Given the description of an element on the screen output the (x, y) to click on. 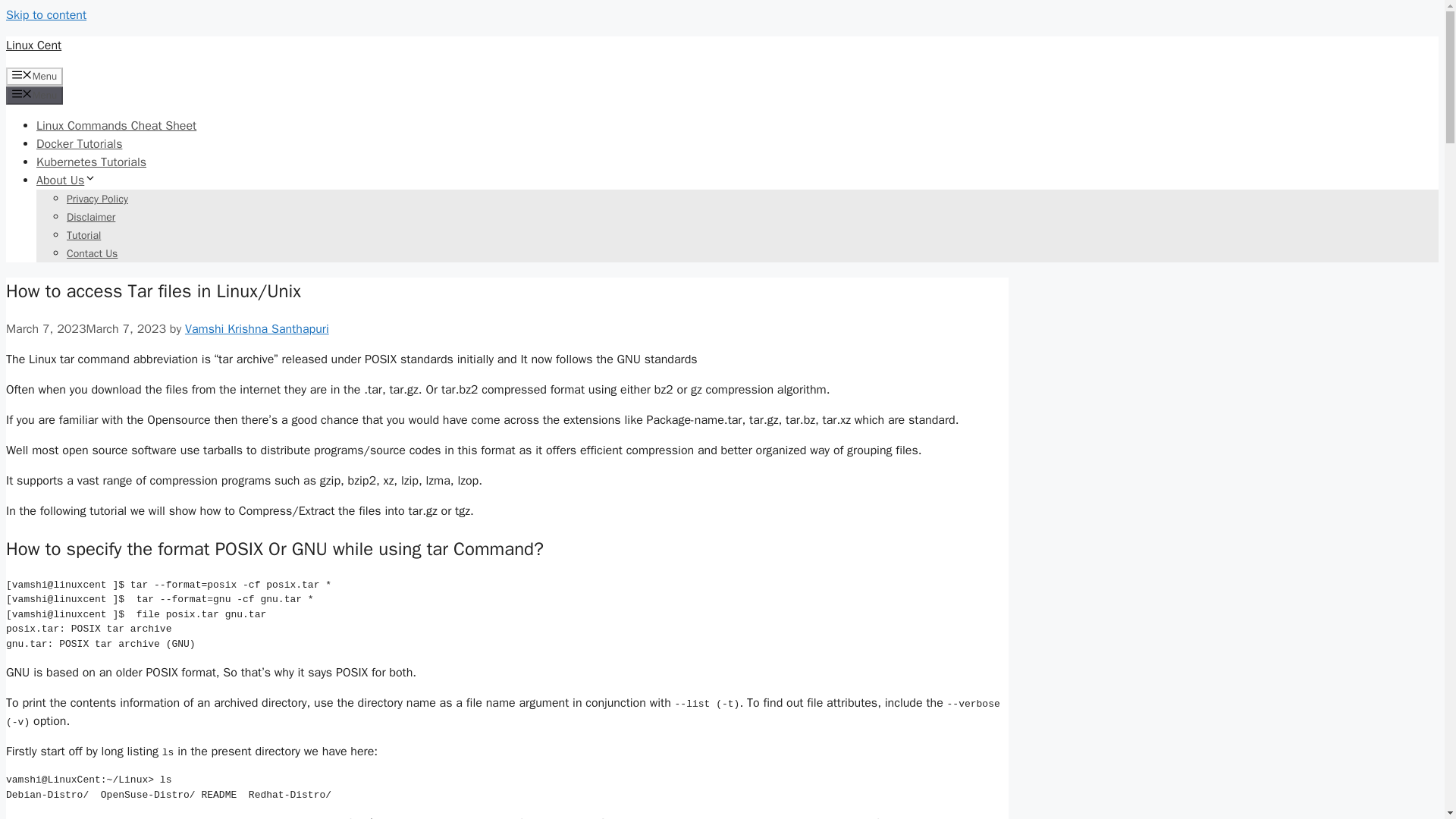
View all posts by Vamshi Krishna Santhapuri (256, 328)
Menu (33, 76)
Skip to content (45, 14)
Linux Cent (33, 45)
Docker Tutorials (79, 143)
Kubernetes Tutorials (91, 161)
Skip to content (45, 14)
About Us (66, 180)
Tutorial (83, 235)
Linux Commands Cheat Sheet (116, 125)
